Given the description of an element on the screen output the (x, y) to click on. 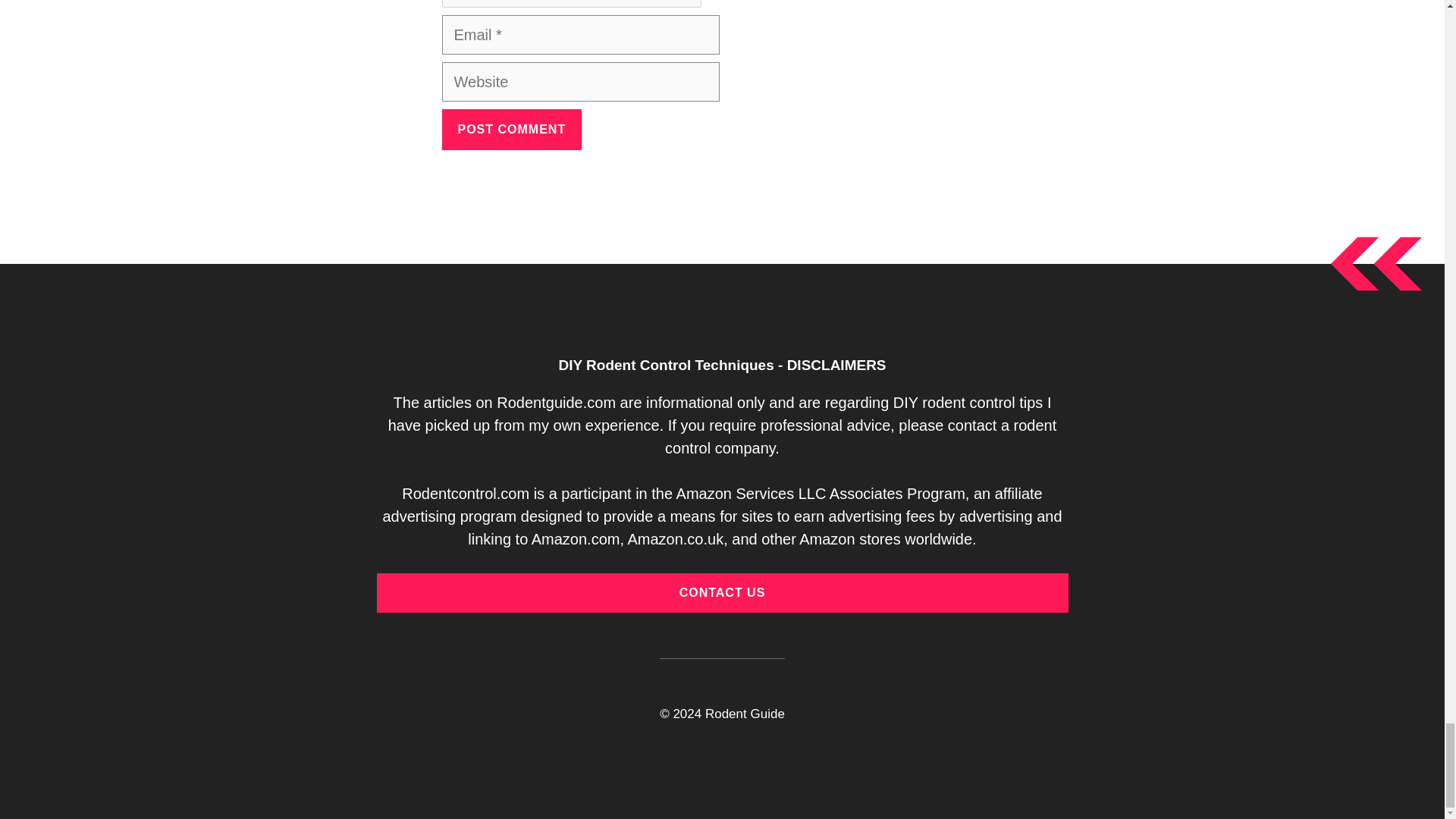
Post Comment (510, 128)
